Given the description of an element on the screen output the (x, y) to click on. 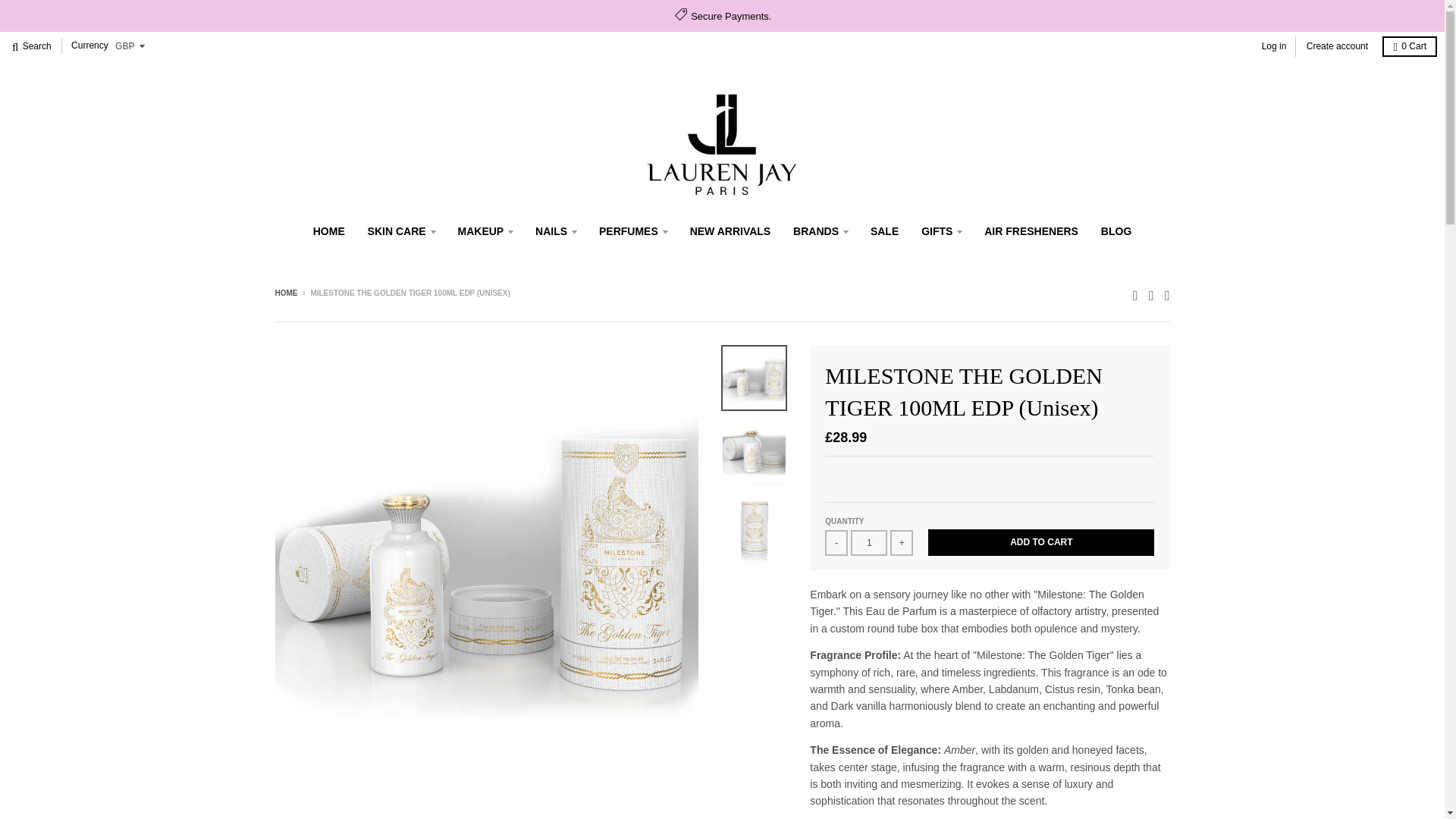
Search (31, 46)
Back to the frontpage (286, 293)
MAKEUP (485, 230)
PERFUMES (633, 230)
SKIN CARE (401, 230)
Log in (1274, 46)
Lauren Jay Paris on Youtube (1167, 294)
BRANDS (820, 230)
NAILS (555, 230)
0 Cart (1409, 46)
HOME (328, 230)
Create account (1337, 46)
Lauren Jay Paris on Instagram (1151, 294)
1 (868, 542)
Lauren Jay Paris on Facebook (1135, 294)
